Given the description of an element on the screen output the (x, y) to click on. 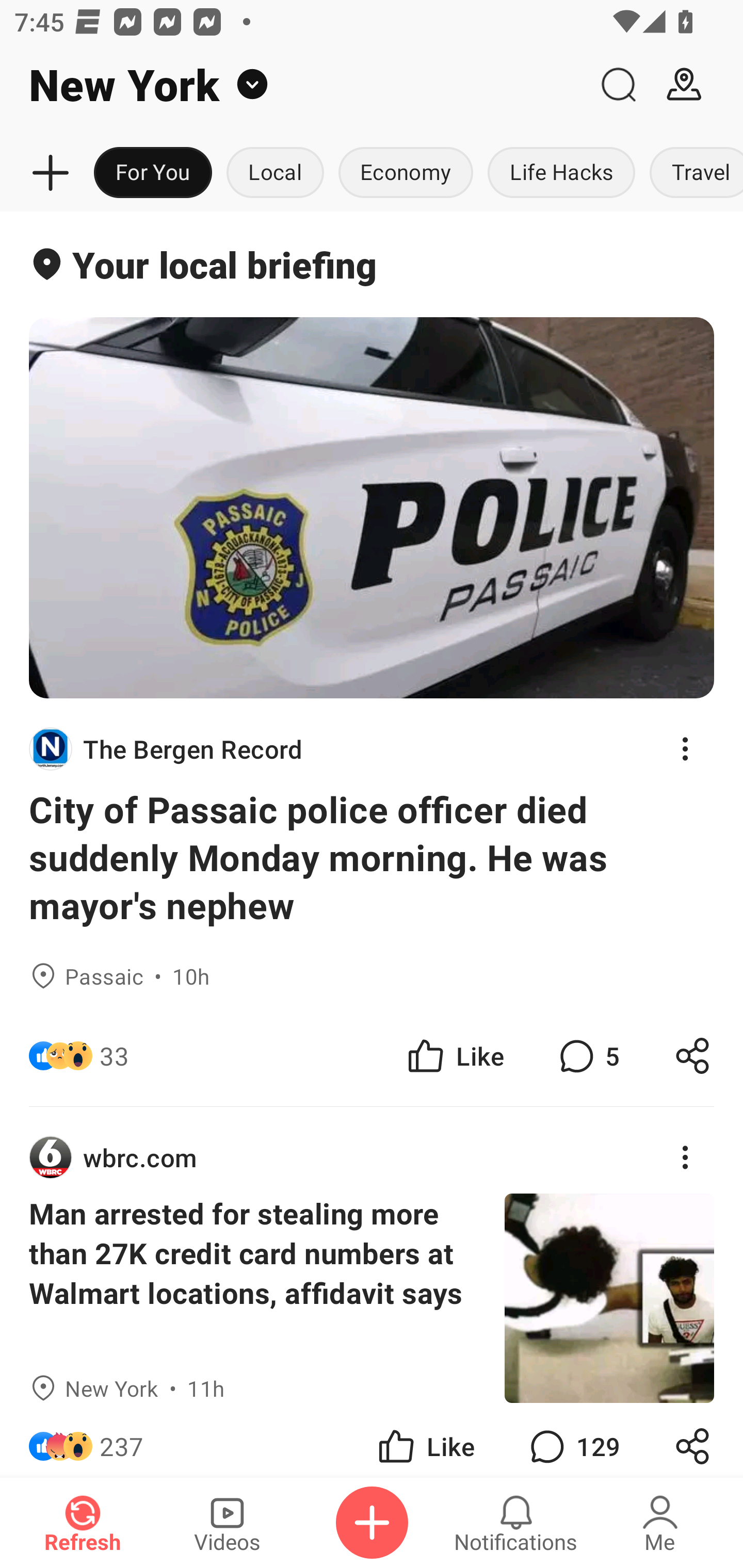
New York (292, 84)
For You (152, 172)
Local (275, 172)
Economy (405, 172)
Life Hacks (561, 172)
Travel (692, 172)
33 (114, 1055)
Like (454, 1055)
5 (587, 1055)
237 (121, 1440)
Like (425, 1440)
129 (572, 1440)
Videos (227, 1522)
Notifications (516, 1522)
Me (659, 1522)
